Given the description of an element on the screen output the (x, y) to click on. 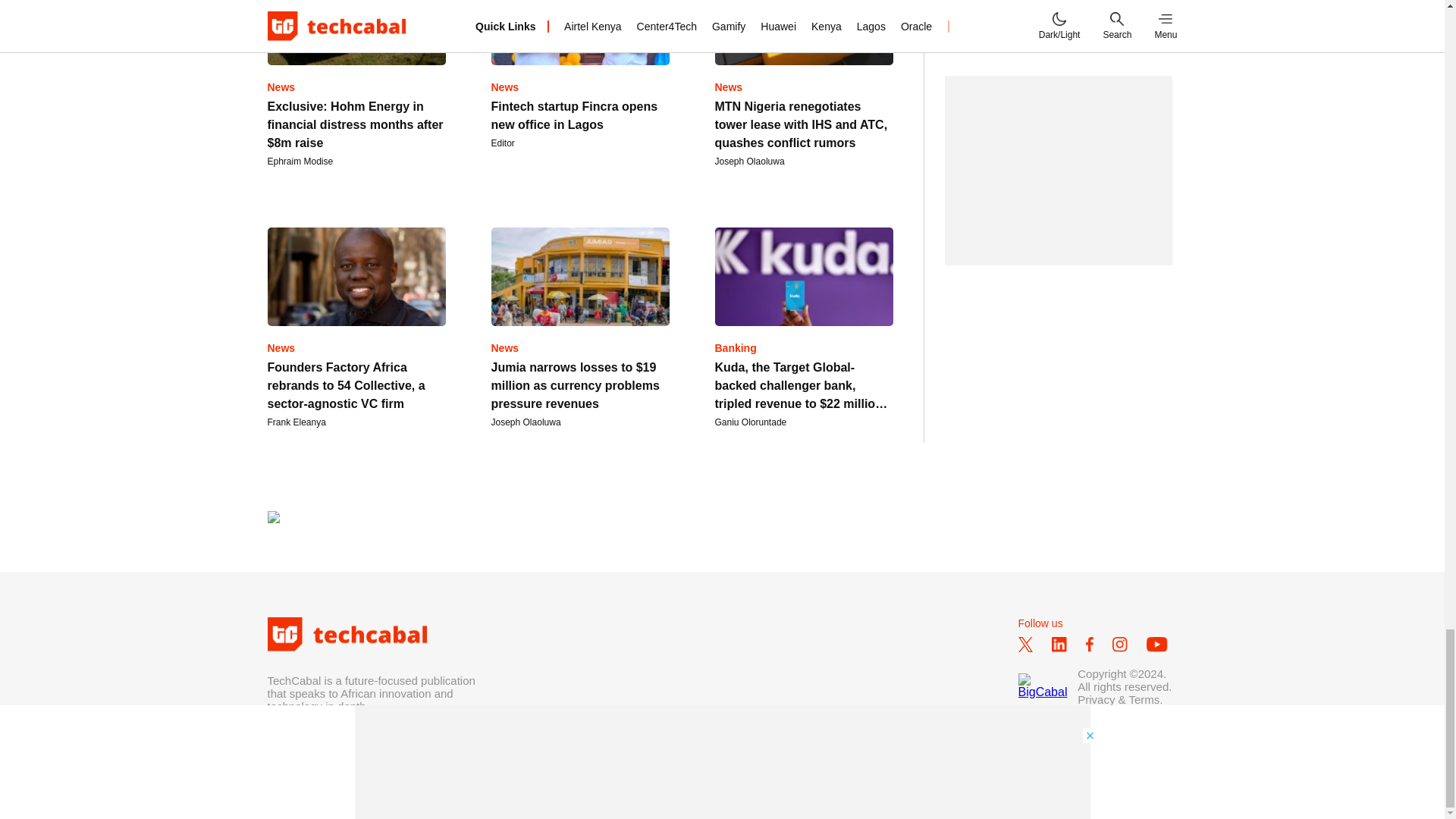
Posts by Joseph Olaoluwa (526, 421)
Posts by Joseph Olaoluwa (749, 161)
Posts by Ganiu Oloruntade (750, 421)
Posts by Editor (503, 143)
Posts by Ephraim Modise (299, 161)
Posts by Frank Eleanya (295, 421)
